Given the description of an element on the screen output the (x, y) to click on. 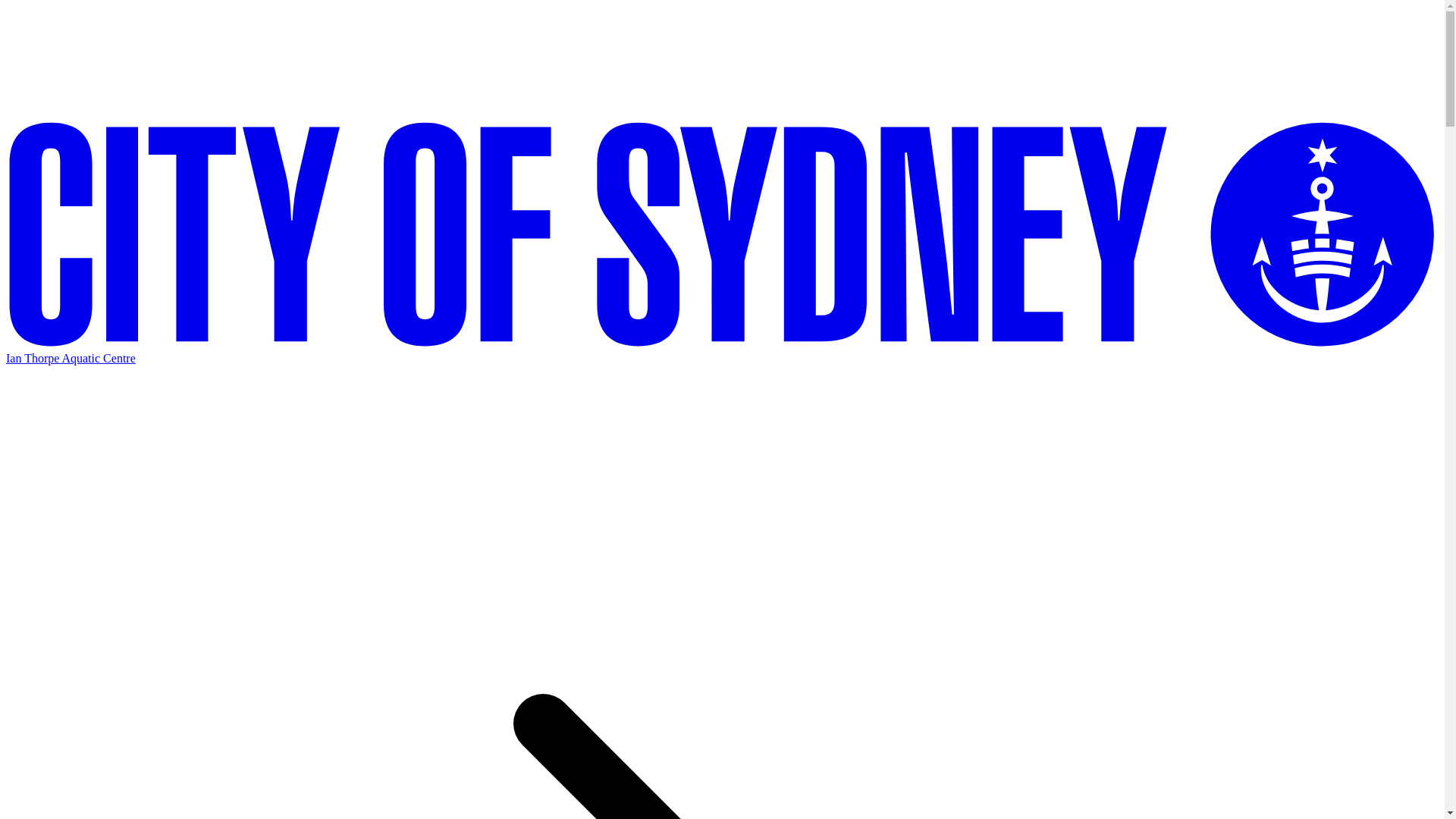
City of Sydney Element type: text (722, 234)
Ian Thorpe Aquatic Centre Element type: text (70, 357)
